Given the description of an element on the screen output the (x, y) to click on. 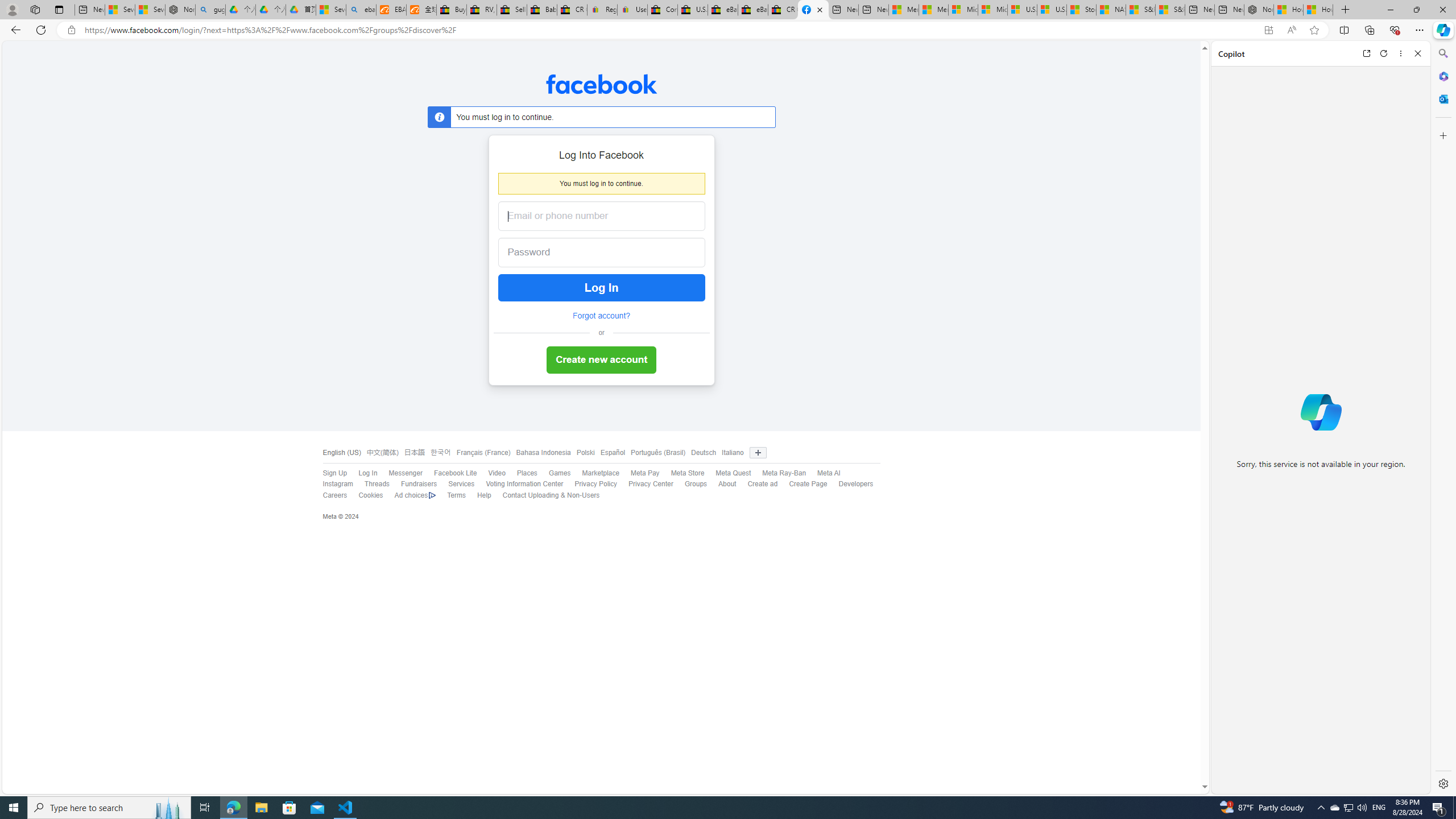
Messenger (399, 473)
Instagram (332, 484)
Places (526, 473)
Meta AI (828, 473)
eBay Inc. Reports Third Quarter 2023 Results (753, 9)
Ad choices (409, 495)
Log into Facebook (812, 9)
Ad choices (415, 495)
Terms (450, 495)
Facebook (600, 84)
